Given the description of an element on the screen output the (x, y) to click on. 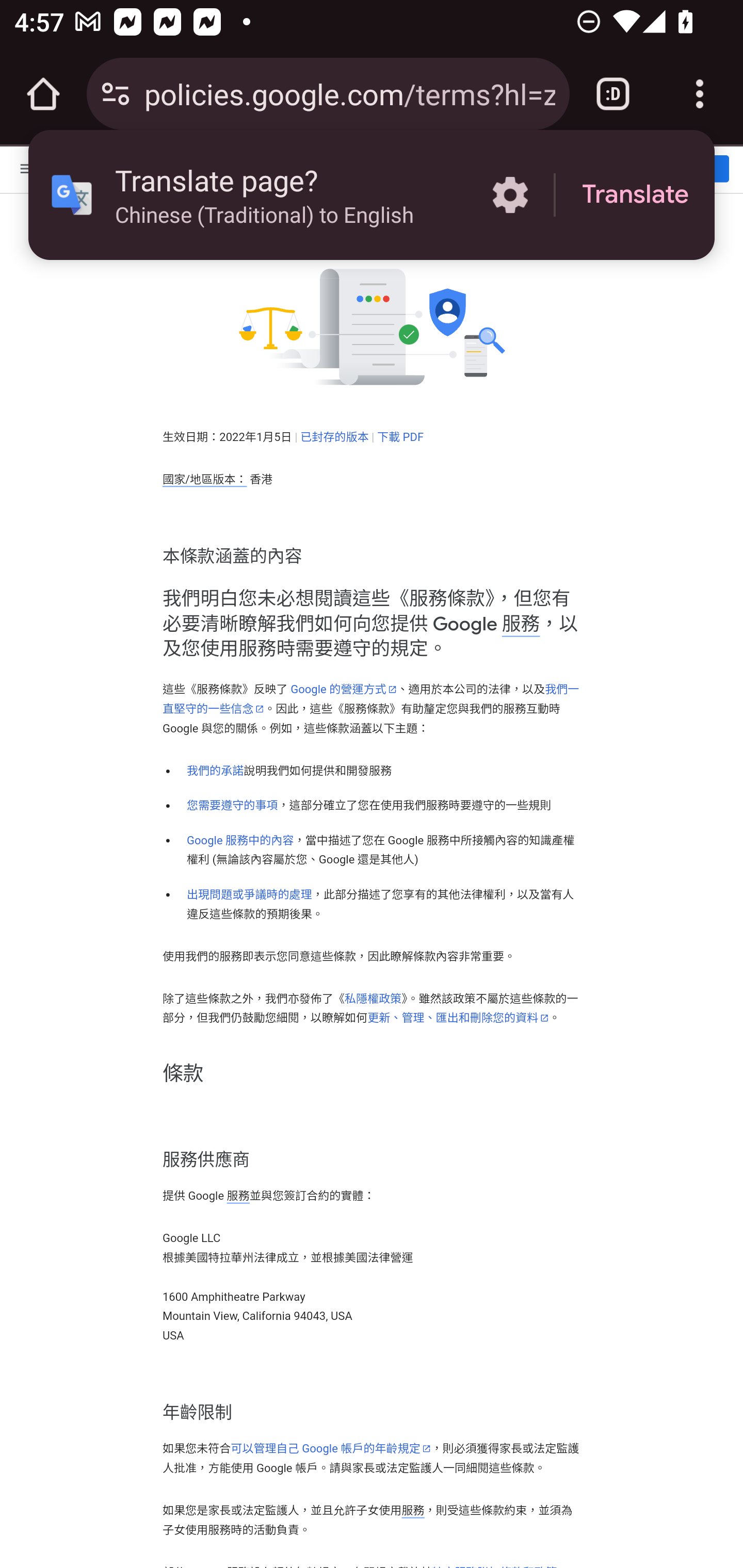
Open the home page (43, 93)
Connection is secure (115, 93)
Switch or close tabs (612, 93)
Customize and control Google Chrome (699, 93)
policies.google.com/terms?hl=zh-HK (349, 92)
Translate (634, 195)
More options in the Translate page? (509, 195)
已封存的版本 (334, 436)
下載 PDF (399, 436)
國家/地區版本： (204, 479)
服務 (520, 622)
我們一直堅守的一些信念 (369, 698)
Google 的營運方式 (342, 689)
我們的承諾 (214, 770)
您需要遵守的事項 (232, 805)
Google 服務中的內容 (240, 839)
出現問題或爭議時的處理 (249, 894)
私隱權政策 (372, 997)
更新、管理、匯出和刪除您的資料 (458, 1017)
服務 (237, 1196)
可以管理自己 Google 帳戶的年齡規定 (330, 1447)
服務 (412, 1510)
